Given the description of an element on the screen output the (x, y) to click on. 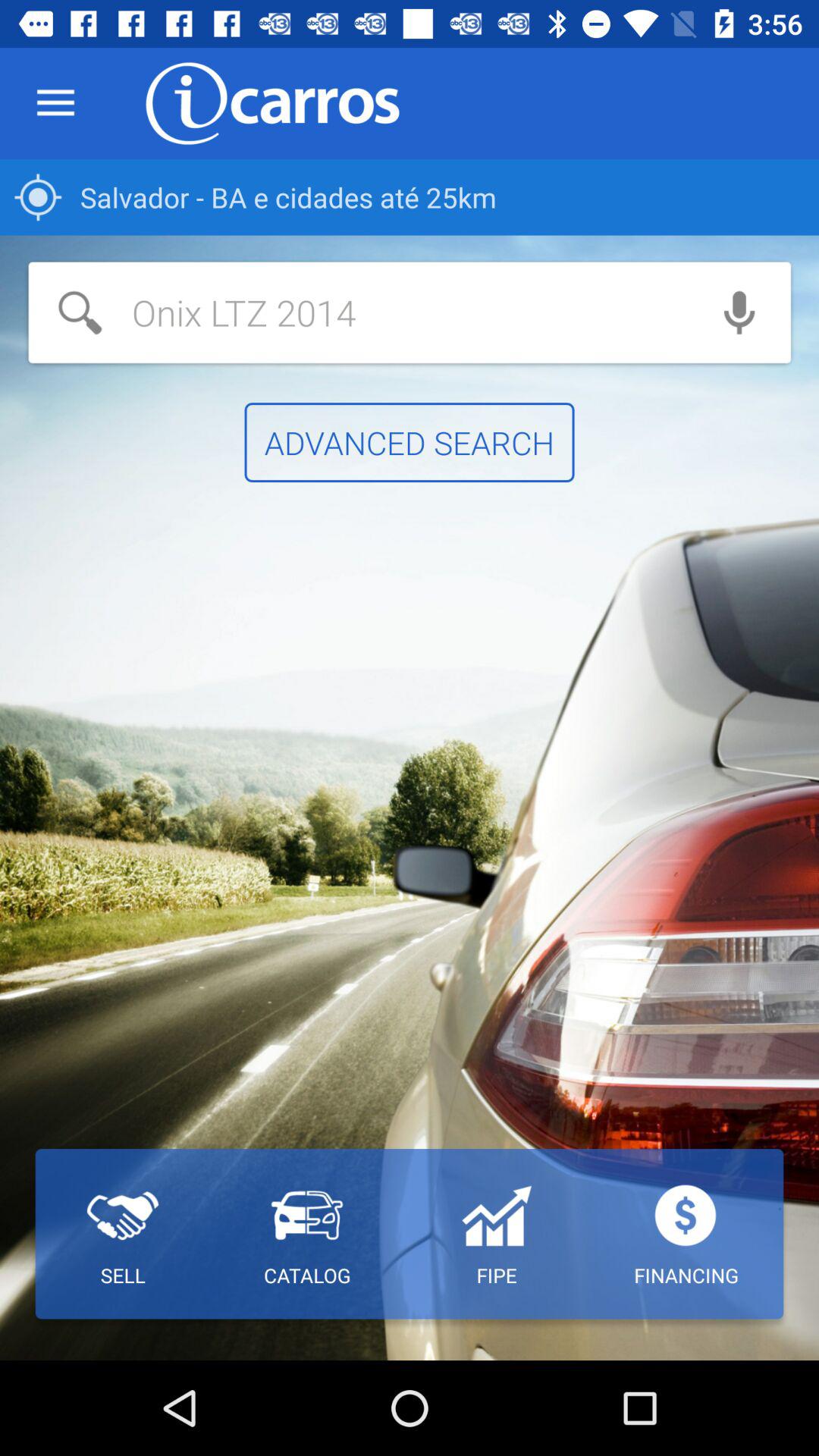
records one 's voice (739, 312)
